Given the description of an element on the screen output the (x, y) to click on. 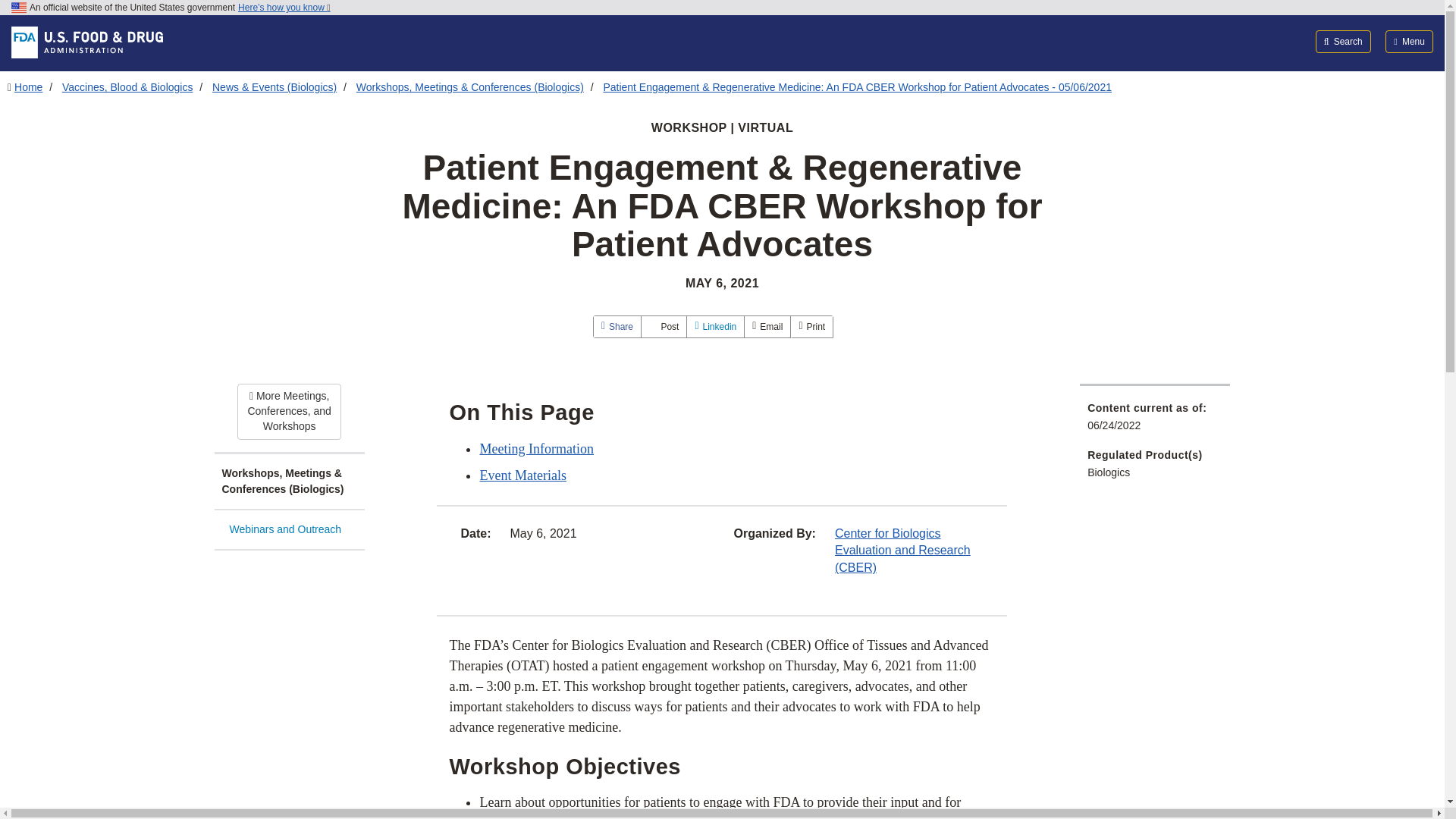
Print this page (811, 326)
  Menu (1409, 41)
  Search (1343, 41)
